Given the description of an element on the screen output the (x, y) to click on. 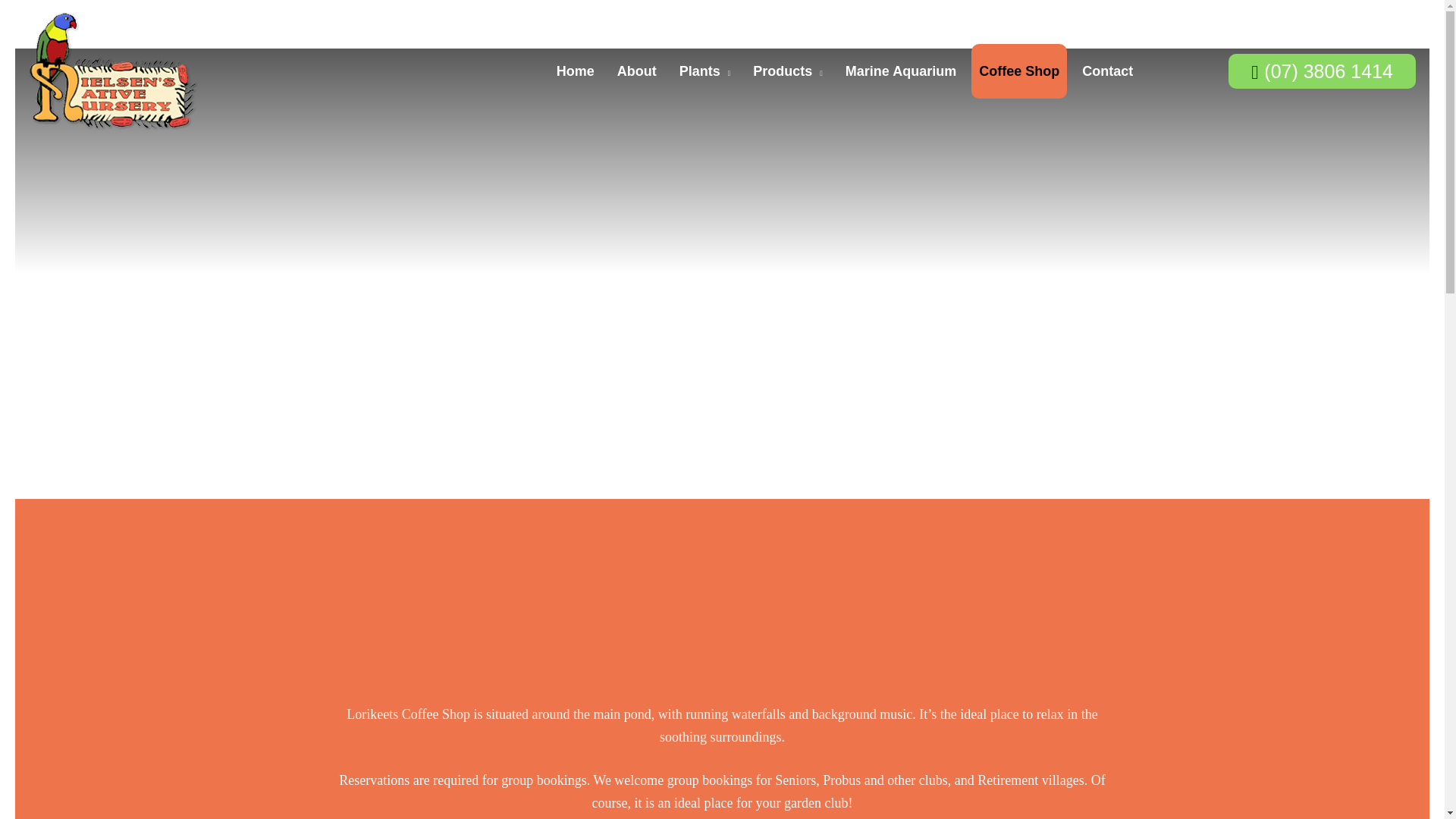
Home (575, 71)
Plants (704, 71)
Marine Aquarium (900, 71)
Plants (704, 71)
Coffee Shop (1019, 71)
Contact (1107, 71)
About (636, 71)
Products (787, 71)
Home (575, 71)
About (636, 71)
